Given the description of an element on the screen output the (x, y) to click on. 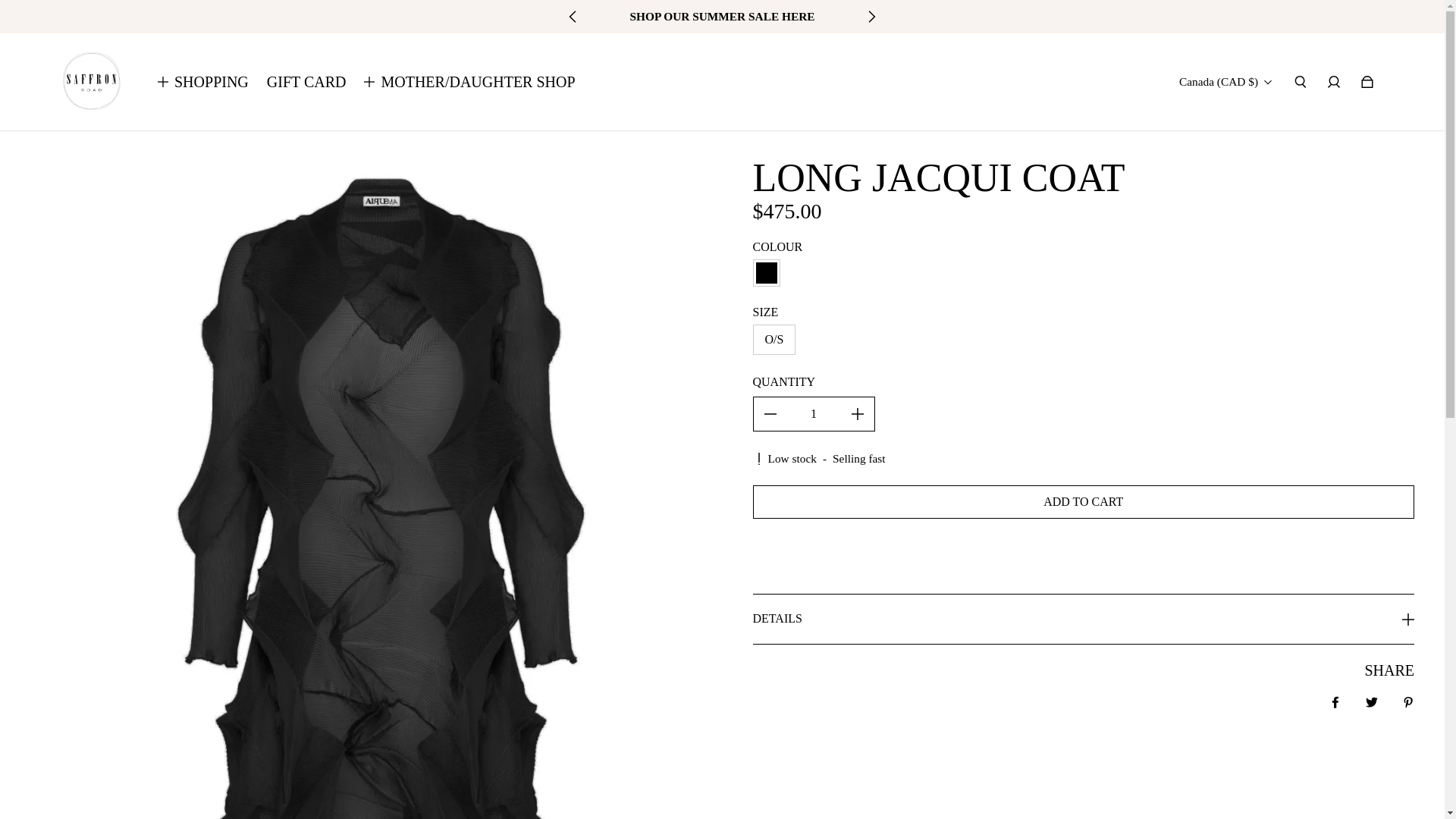
1 (814, 413)
SHOPPING (211, 81)
SHOP OUR SUMMER SALE HERE (720, 16)
